Given the description of an element on the screen output the (x, y) to click on. 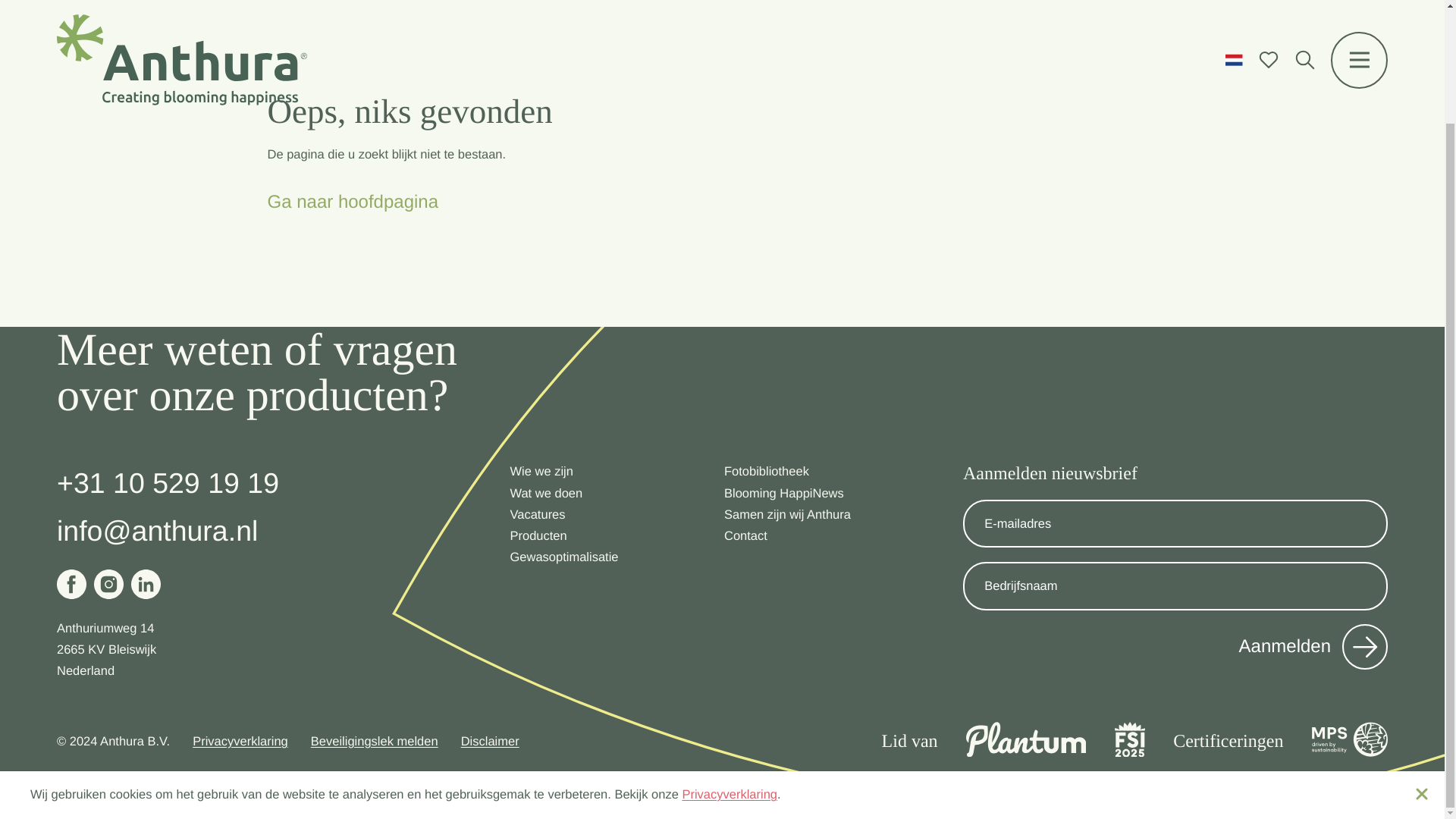
Vacatures (536, 515)
Privacyverklaring (729, 660)
Ga naar hoofdpagina (352, 202)
Contact (745, 536)
Gewasoptimalisatie (563, 557)
Wie we zijn (540, 471)
Bekijk ons op Facebook (70, 583)
Fotobibliotheek (766, 471)
Privacyverklaring (729, 660)
Blooming HappiNews (783, 493)
